Given the description of an element on the screen output the (x, y) to click on. 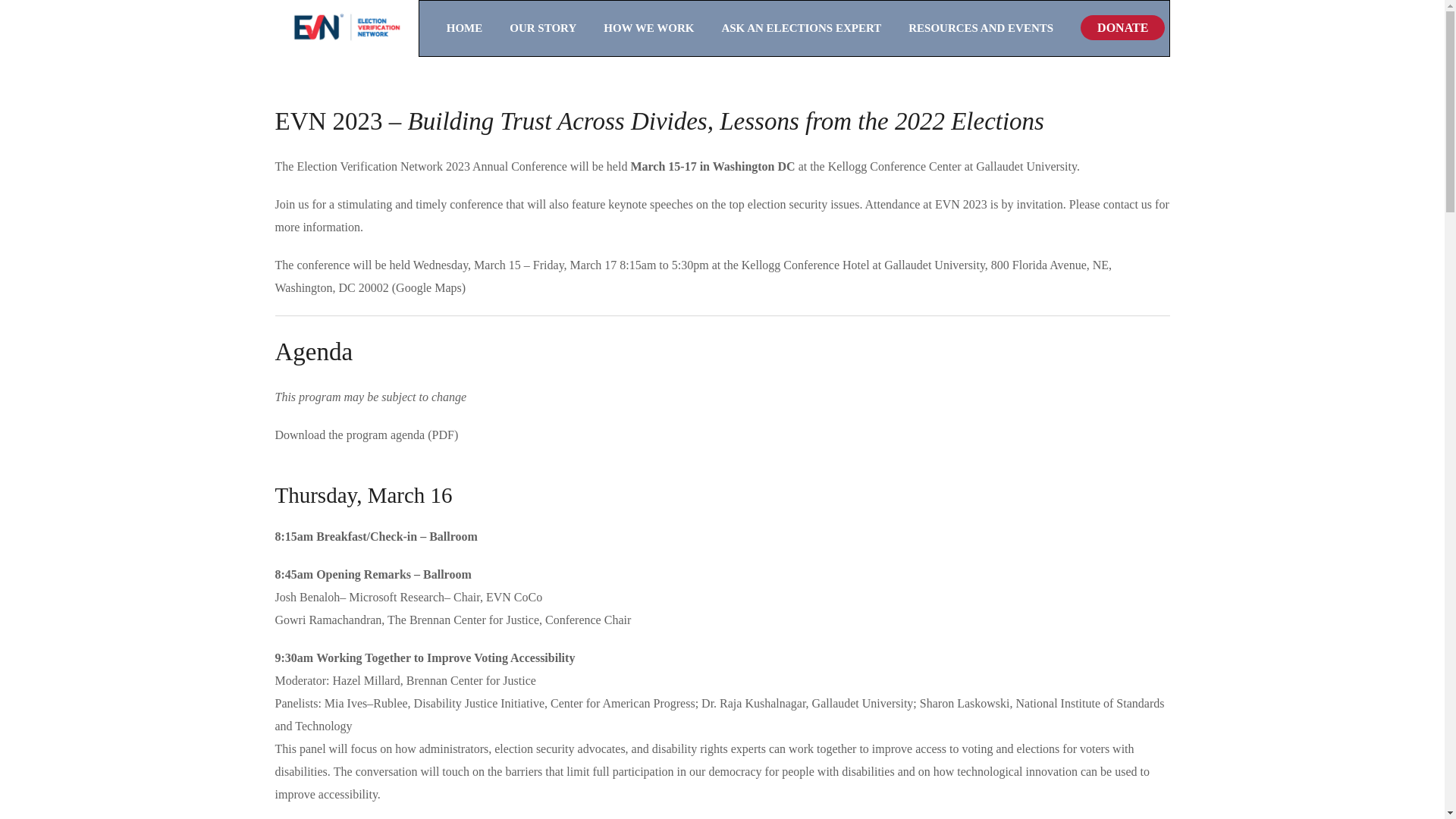
Google Maps (428, 287)
HOME (478, 28)
Download the program agenda (350, 434)
contact us (1127, 204)
DONATE (1122, 27)
EVN (346, 28)
HOW WE WORK (662, 28)
ASK AN ELECTIONS EXPERT (814, 28)
RESOURCES AND EVENTS (994, 28)
OUR STORY (556, 28)
